Given the description of an element on the screen output the (x, y) to click on. 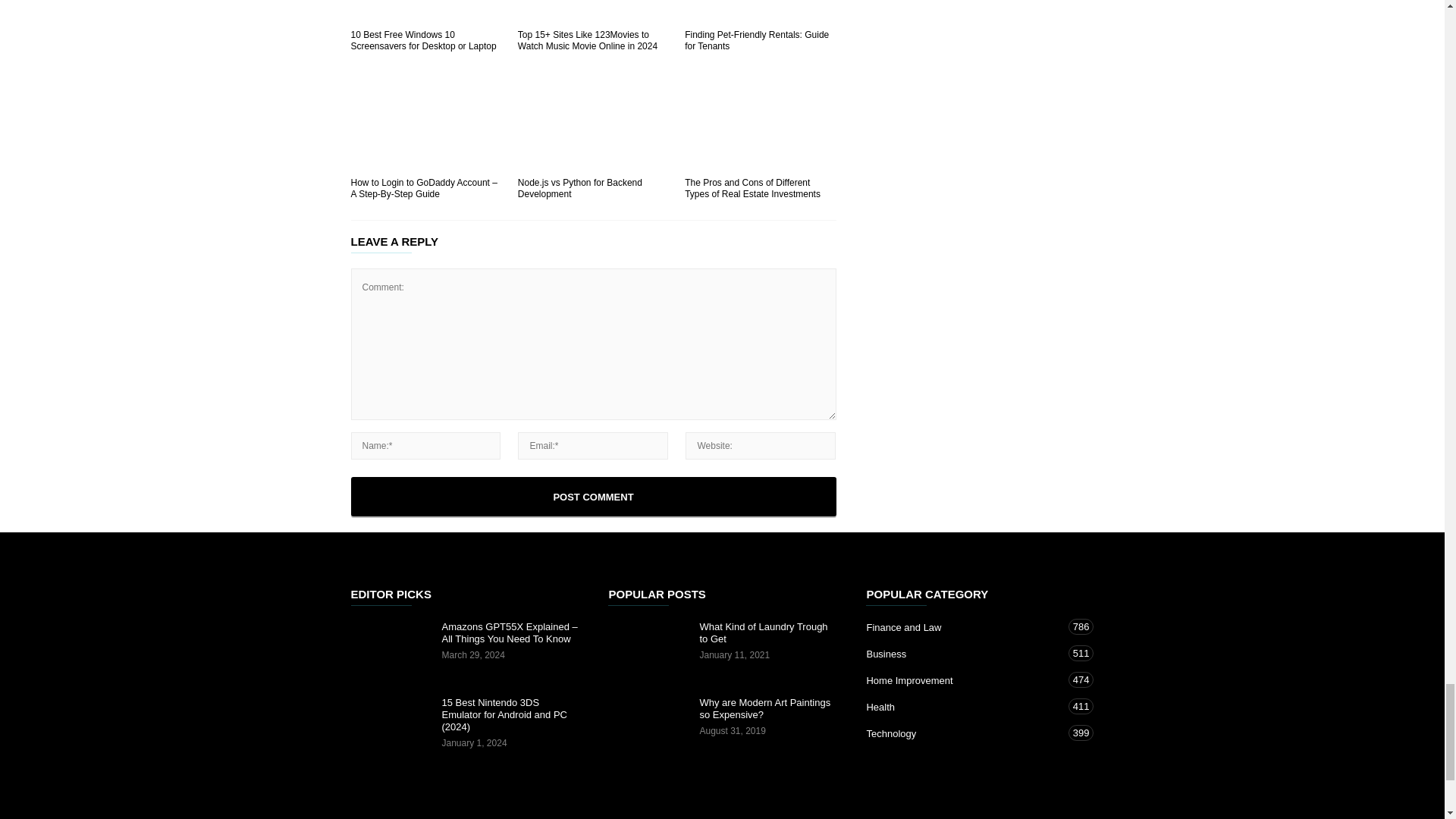
Post Comment (592, 496)
10 Best Free Windows 10 Screensavers for Desktop or Laptop (425, 12)
